Given the description of an element on the screen output the (x, y) to click on. 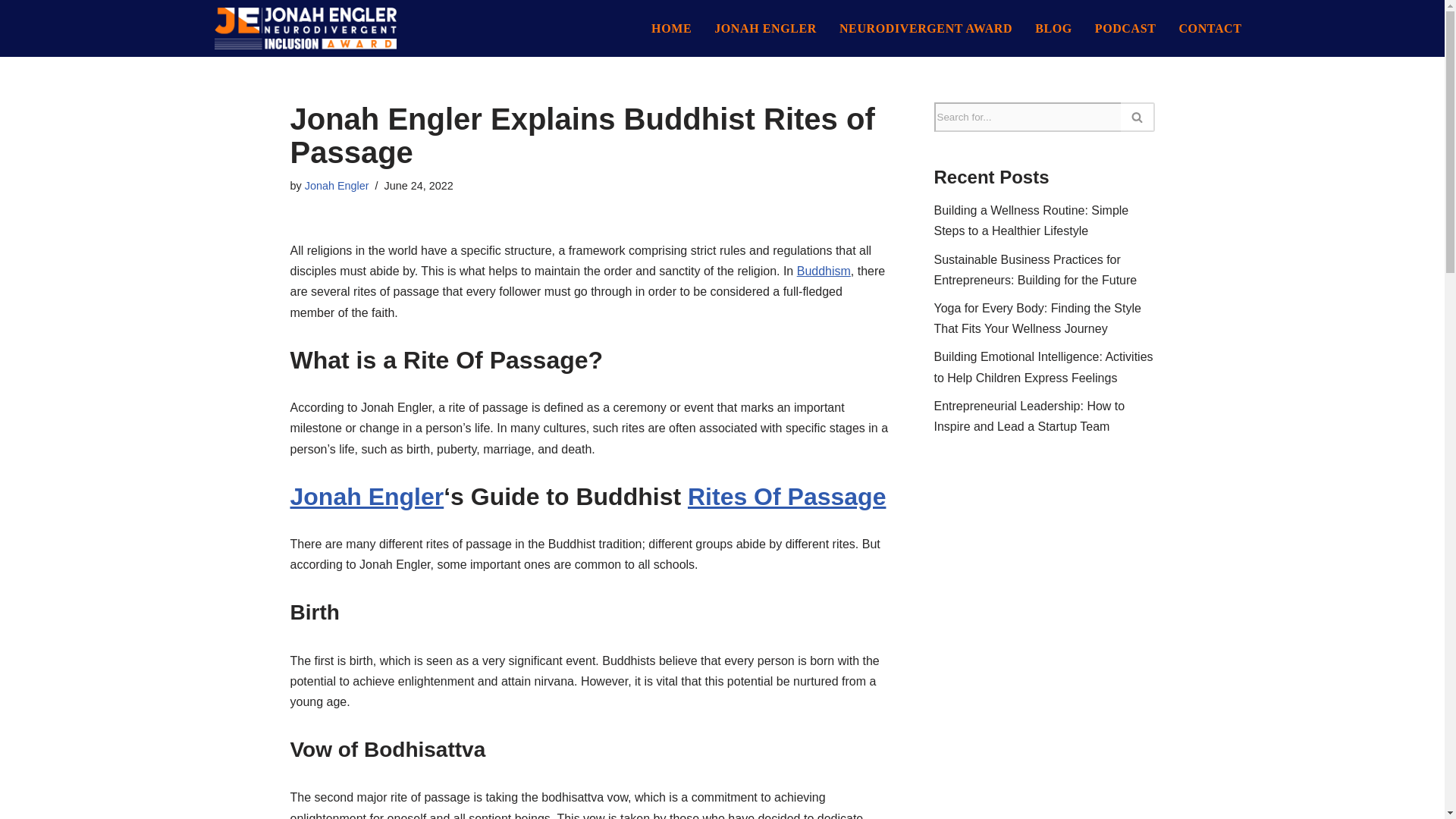
Buddhism (823, 270)
BLOG (1053, 28)
CONTACT (1209, 28)
Posts by Jonah Engler (336, 184)
Skip to content (11, 31)
NEURODIVERGENT AWARD (925, 28)
Rites Of Passage (786, 496)
JONAH ENGLER (765, 28)
PODCAST (1125, 28)
HOME (671, 28)
